Given the description of an element on the screen output the (x, y) to click on. 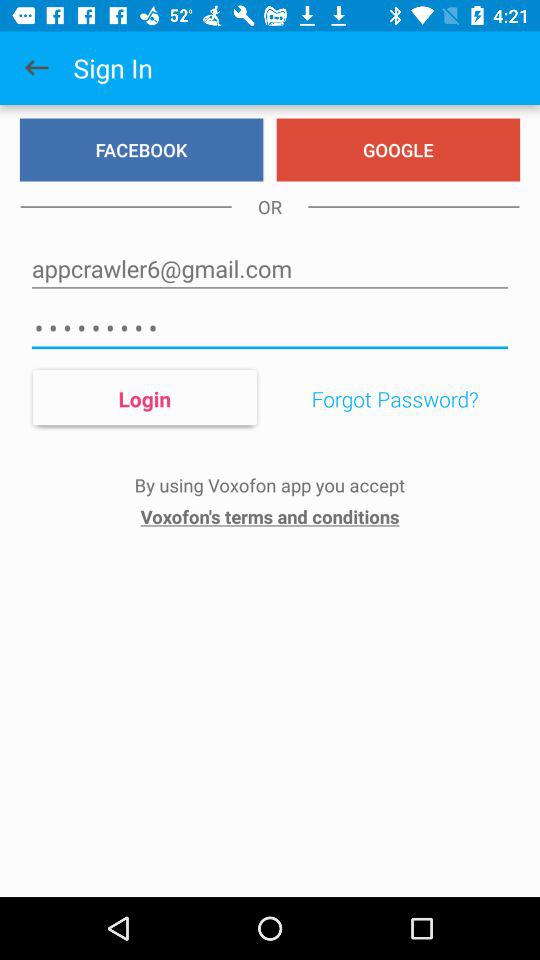
press the icon to the right of login item (394, 399)
